Given the description of an element on the screen output the (x, y) to click on. 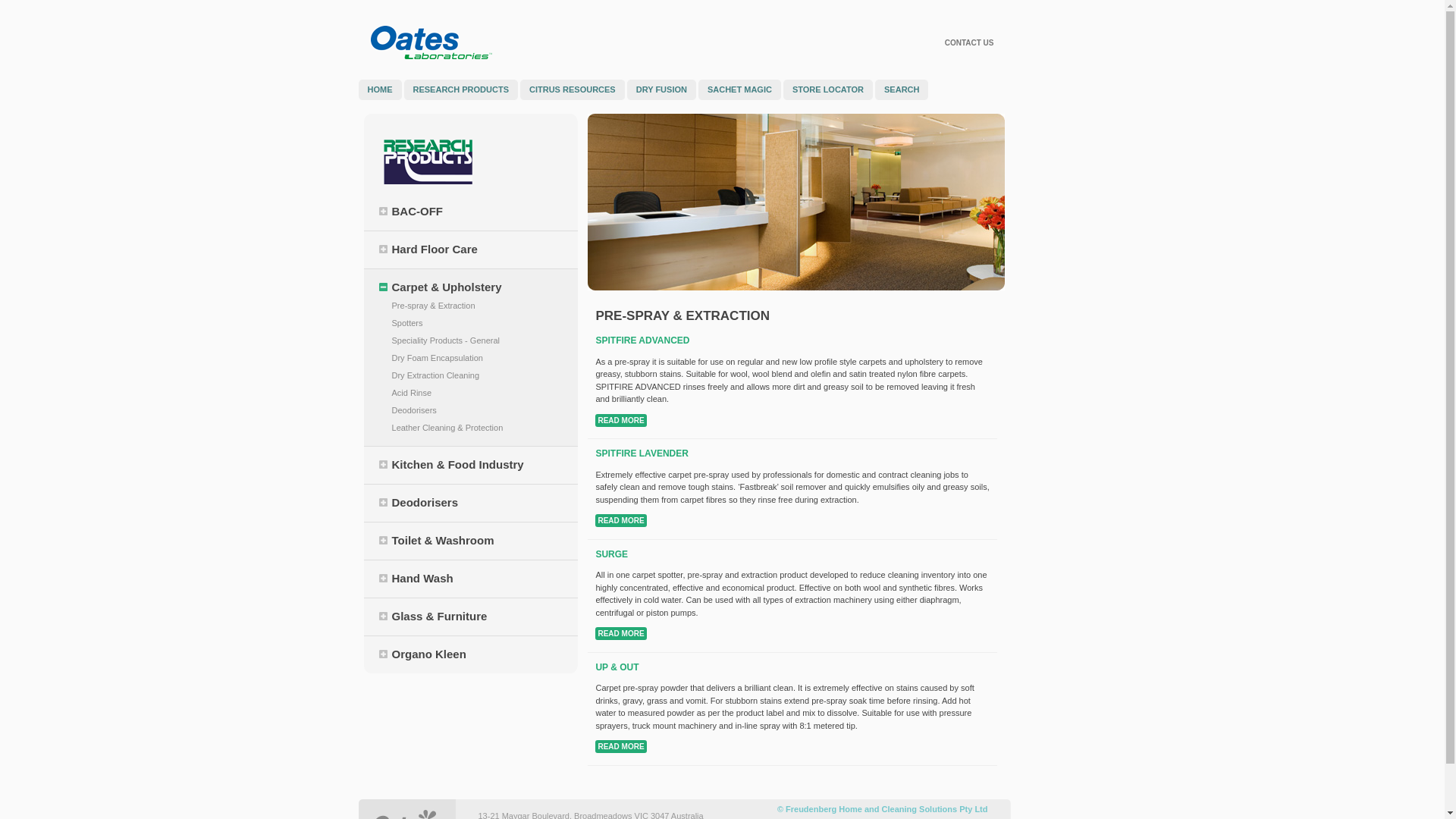
READ MORE Element type: text (620, 520)
Carpet & Upholstery Element type: text (440, 287)
Dry Extraction Cleaning Element type: text (436, 374)
SACHET MAGIC Element type: text (739, 89)
READ MORE Element type: text (620, 746)
UP & OUT Element type: text (616, 666)
RESEARCH PRODUCTS Element type: text (460, 89)
SPITFIRE ADVANCED Element type: text (642, 340)
Kitchen & Food Industry Element type: text (451, 464)
HOME Element type: text (379, 89)
SURGE Element type: text (611, 554)
Acid Rinse Element type: text (412, 392)
BAC-OFF Element type: text (411, 211)
Speciality Products - General Element type: text (445, 340)
Hand Wash Element type: text (416, 578)
Toilet & Washroom Element type: text (436, 540)
READ MORE Element type: text (620, 420)
Dry Foam Encapsulation Element type: text (437, 357)
STORE LOCATOR Element type: text (827, 89)
Deodorisers Element type: text (414, 409)
SEARCH Element type: text (901, 89)
Pre-spray & Extraction Element type: text (433, 305)
Spotters Element type: text (407, 322)
Organo Kleen Element type: text (422, 654)
Glass & Furniture Element type: text (433, 616)
READ MORE Element type: text (620, 633)
DRY FUSION Element type: text (661, 89)
Leather Cleaning & Protection Element type: text (447, 427)
CITRUS RESOURCES Element type: text (572, 89)
SPITFIRE LAVENDER Element type: text (641, 453)
Deodorisers Element type: text (418, 502)
CONTACT US Element type: text (969, 42)
Hard Floor Care Element type: text (428, 249)
